Given the description of an element on the screen output the (x, y) to click on. 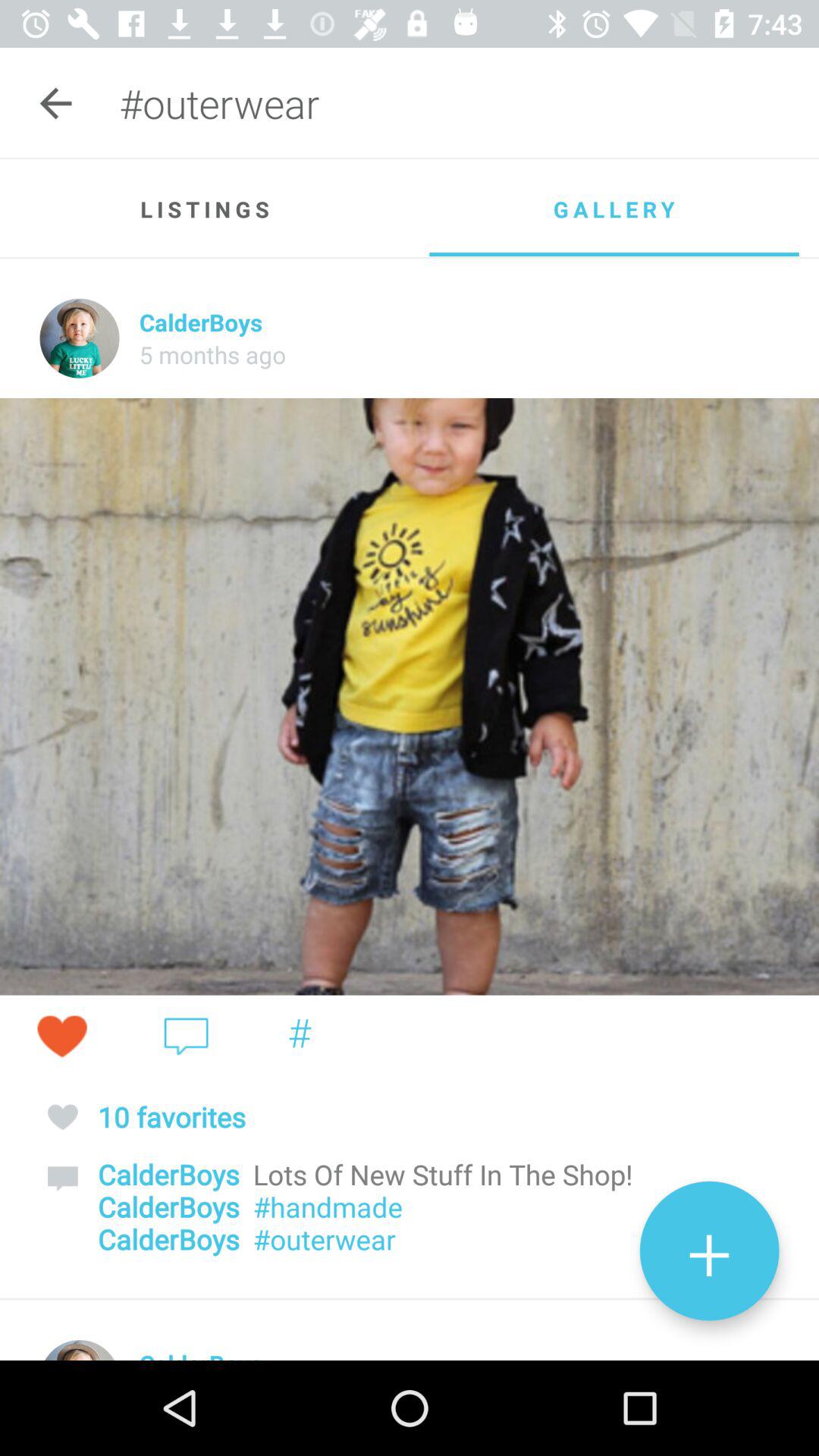
click to comment (185, 1036)
